Given the description of an element on the screen output the (x, y) to click on. 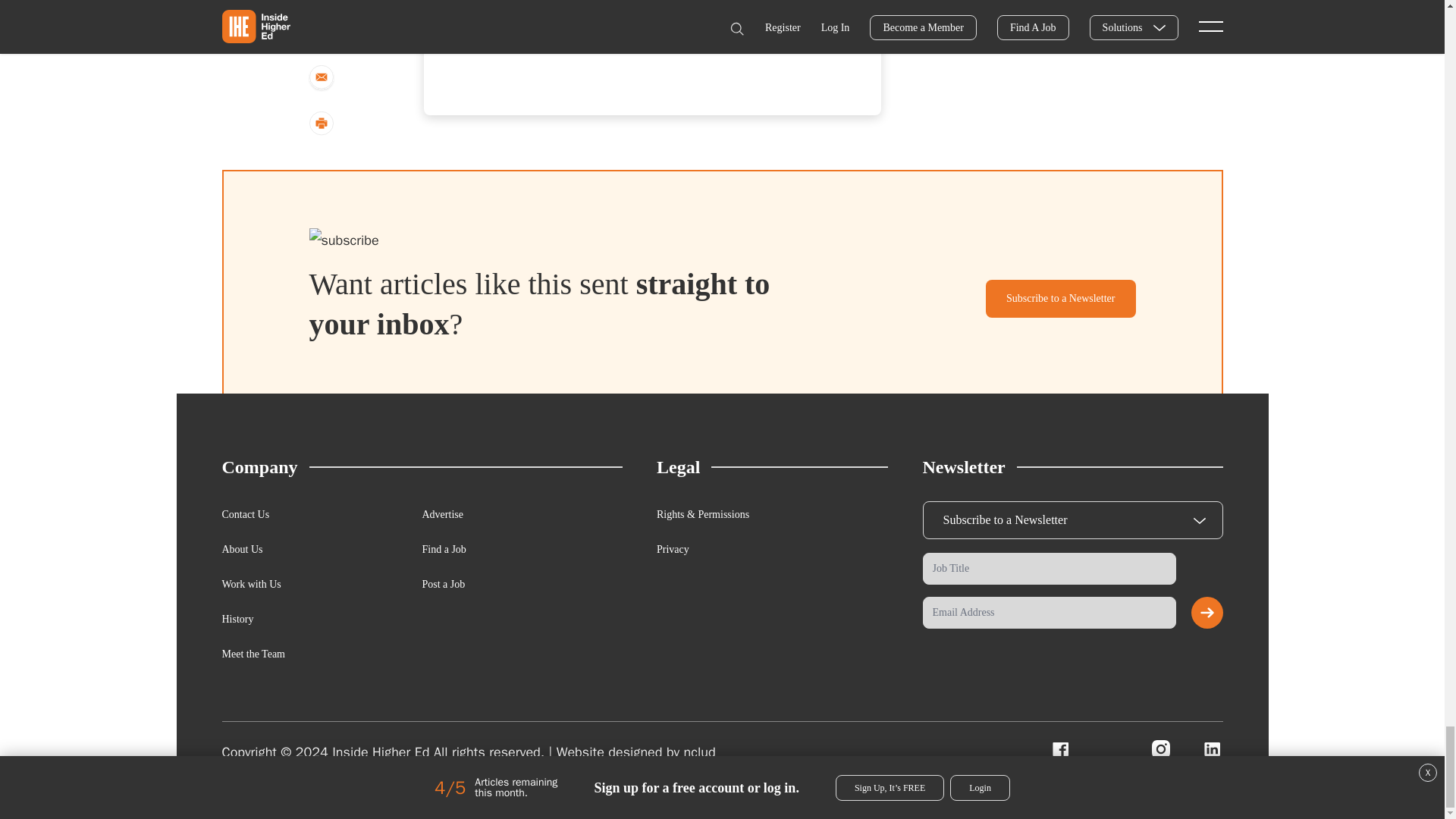
Submit (1207, 612)
